Given the description of an element on the screen output the (x, y) to click on. 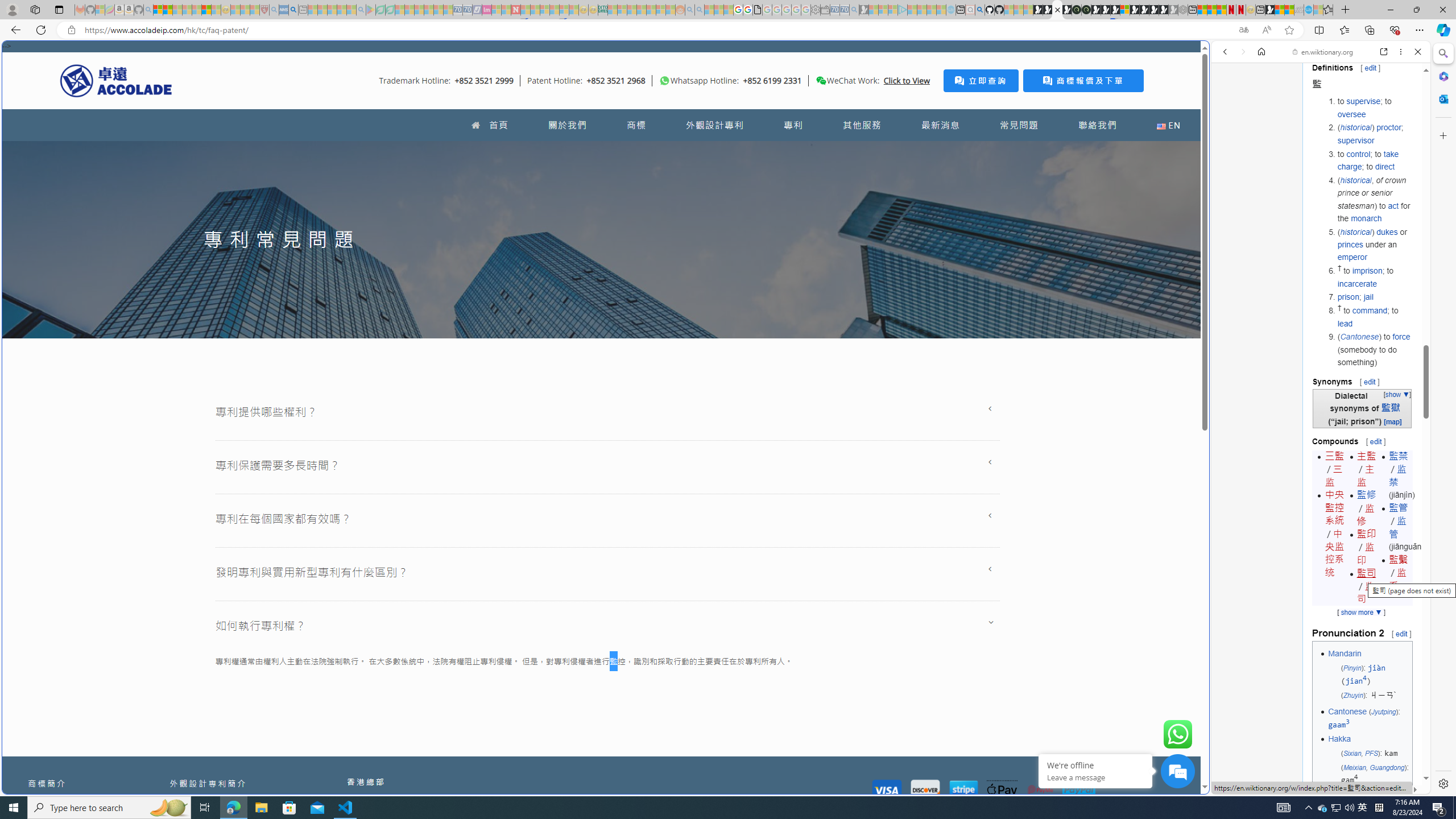
direct (1384, 166)
to control; to take charge; to direct (1374, 160)
Play Zoo Boom in your browser | Games from Microsoft Start (1047, 9)
Sixian (1351, 752)
prison; jail (1374, 296)
jail (1367, 297)
MSNBC - MSN - Sleeping (611, 9)
prison (1347, 297)
Copilot (Ctrl+Shift+.) (1442, 29)
Services - Maintenance | Sky Blue Bikes - Sky Blue Bikes (1307, 9)
